Given the description of an element on the screen output the (x, y) to click on. 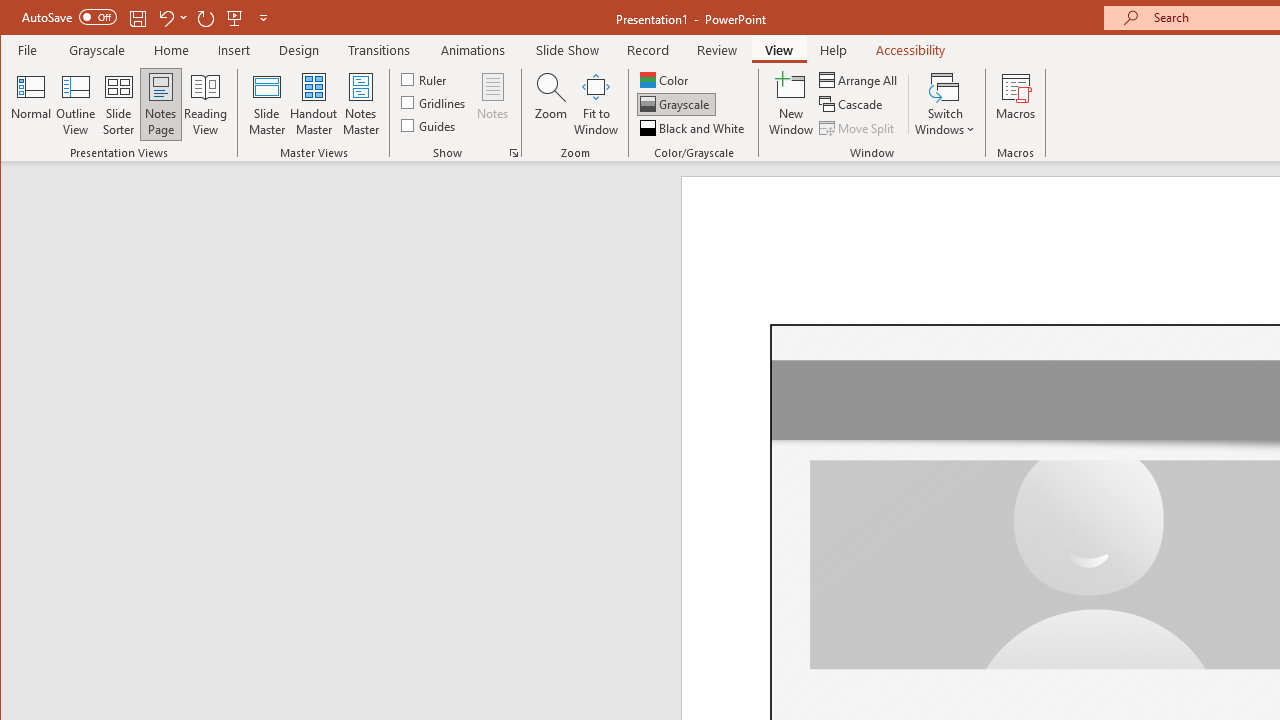
Guides (430, 124)
Notes (493, 104)
Grid Settings... (513, 152)
Gridlines (435, 101)
Fit to Window (596, 104)
Cascade (852, 103)
